Given the description of an element on the screen output the (x, y) to click on. 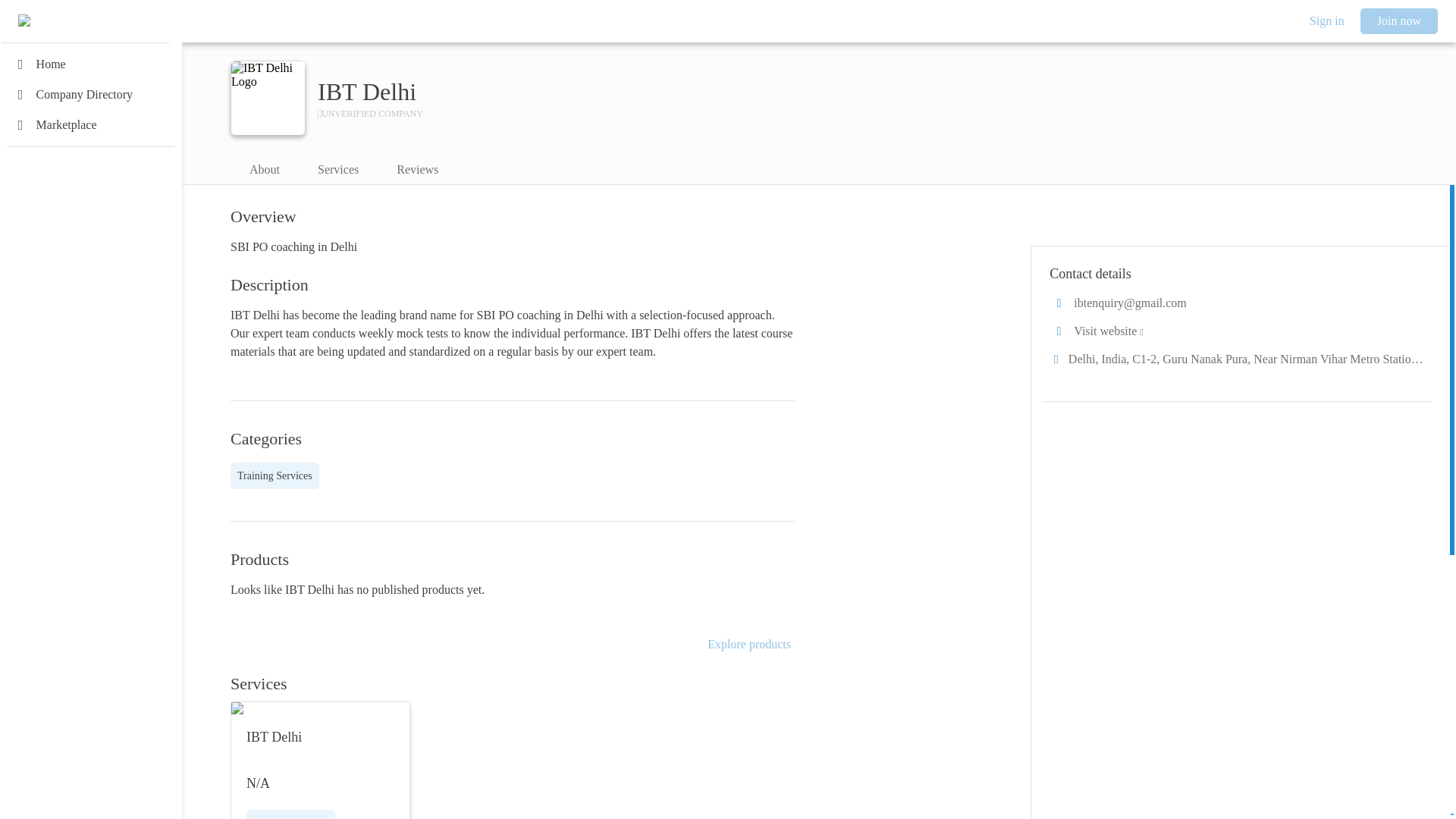
Sign in (1327, 21)
Explore products (748, 644)
Join now (1398, 21)
Visit website (1237, 331)
Training Services (274, 475)
Company Directory (91, 94)
Training Services (274, 475)
Home (91, 64)
Marketplace (91, 124)
